Given the description of an element on the screen output the (x, y) to click on. 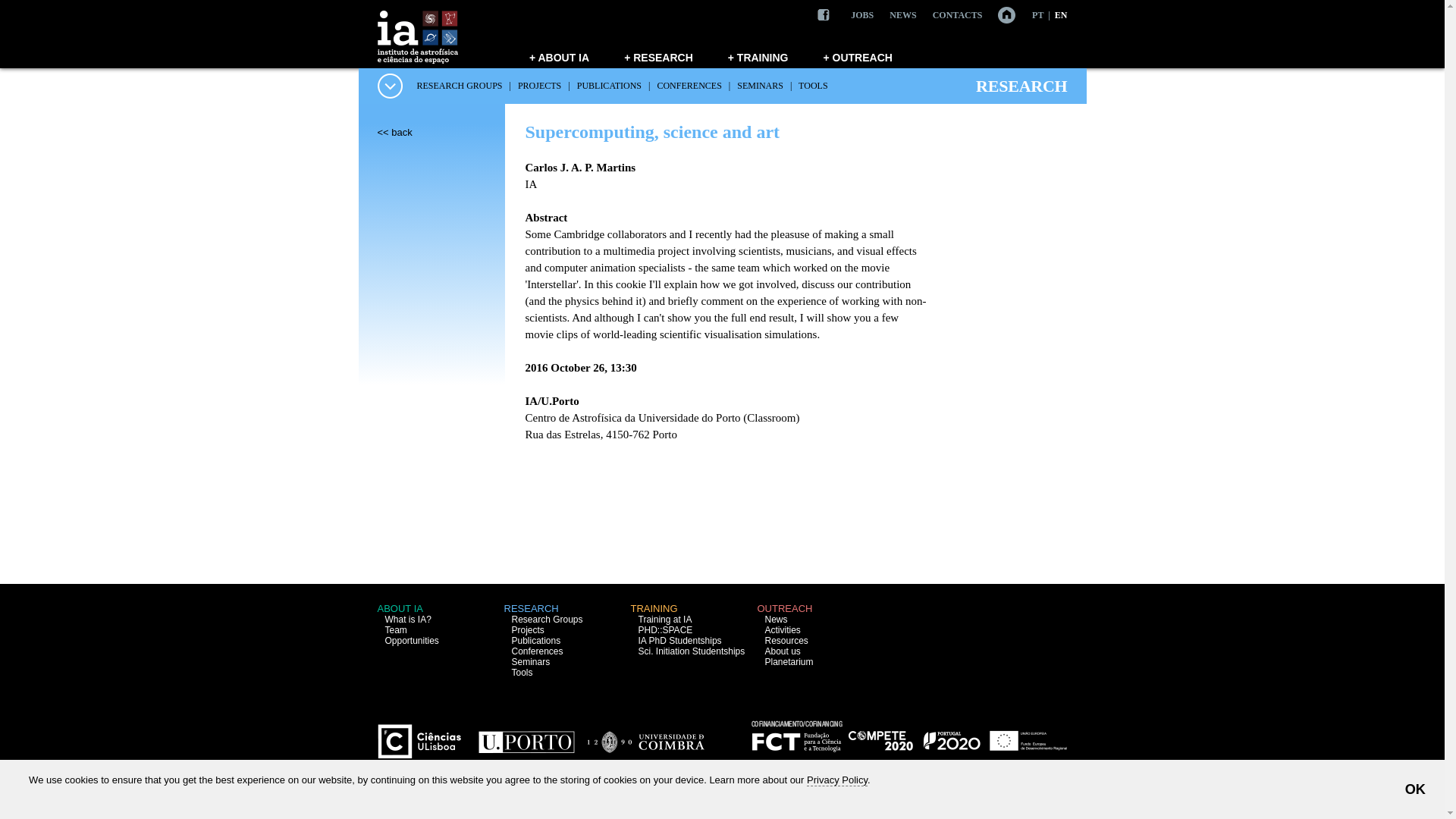
PROJECTS (539, 85)
Home (999, 14)
SEMINARS (759, 85)
PUBLICATIONS (609, 85)
CONTACTS (957, 14)
NEWS (902, 14)
RESEARCH GROUPS (459, 85)
CONFERENCES (688, 85)
TOOLS (812, 85)
What is IA? (407, 619)
Facebook (822, 15)
Opportunities (412, 640)
Team (396, 629)
JOBS (861, 14)
PT (1037, 14)
